Given the description of an element on the screen output the (x, y) to click on. 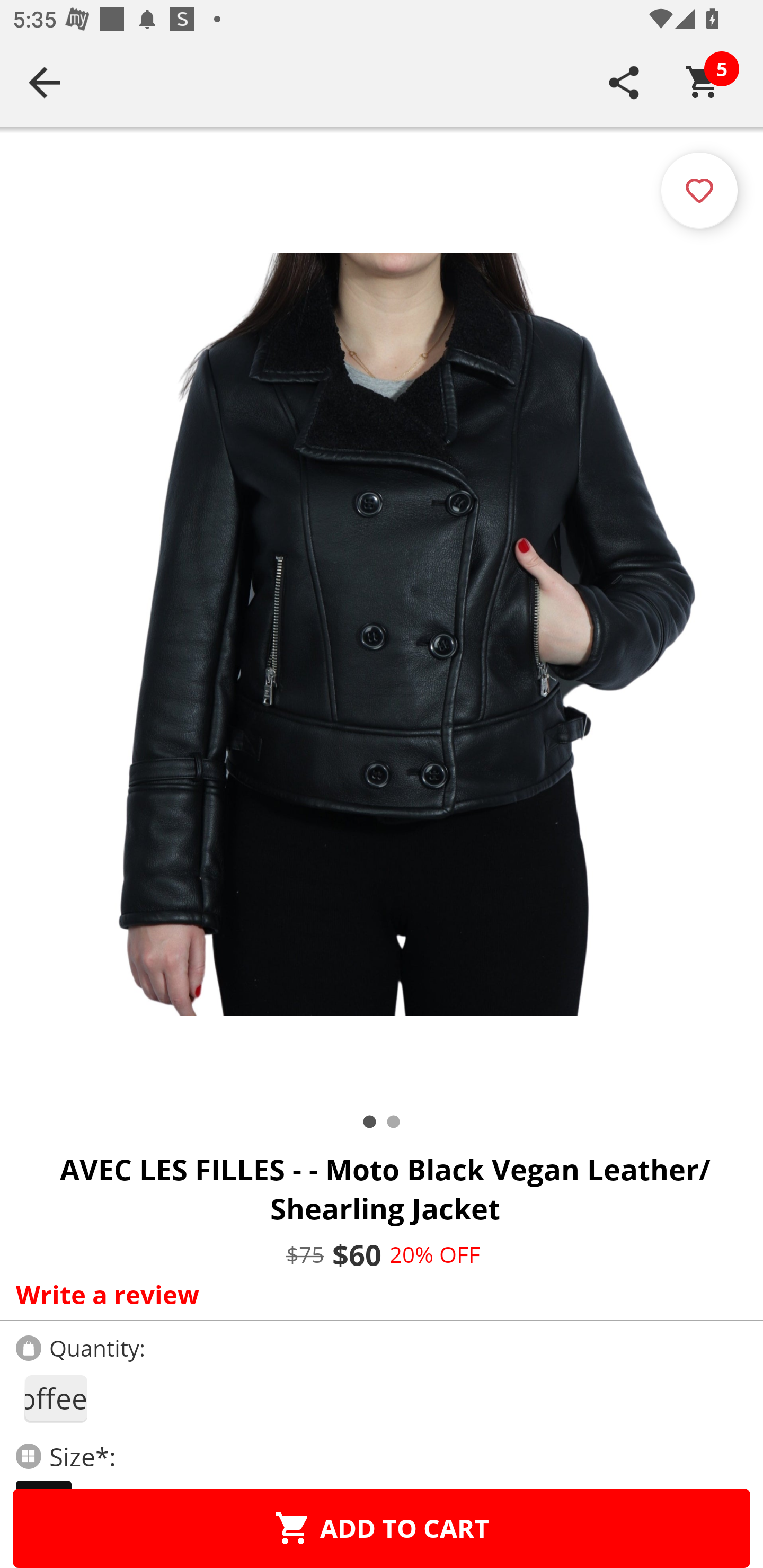
Navigate up (44, 82)
SHARE (623, 82)
Cart (703, 81)
Write a review (377, 1294)
1coffee (55, 1398)
ADD TO CART (381, 1528)
